Given the description of an element on the screen output the (x, y) to click on. 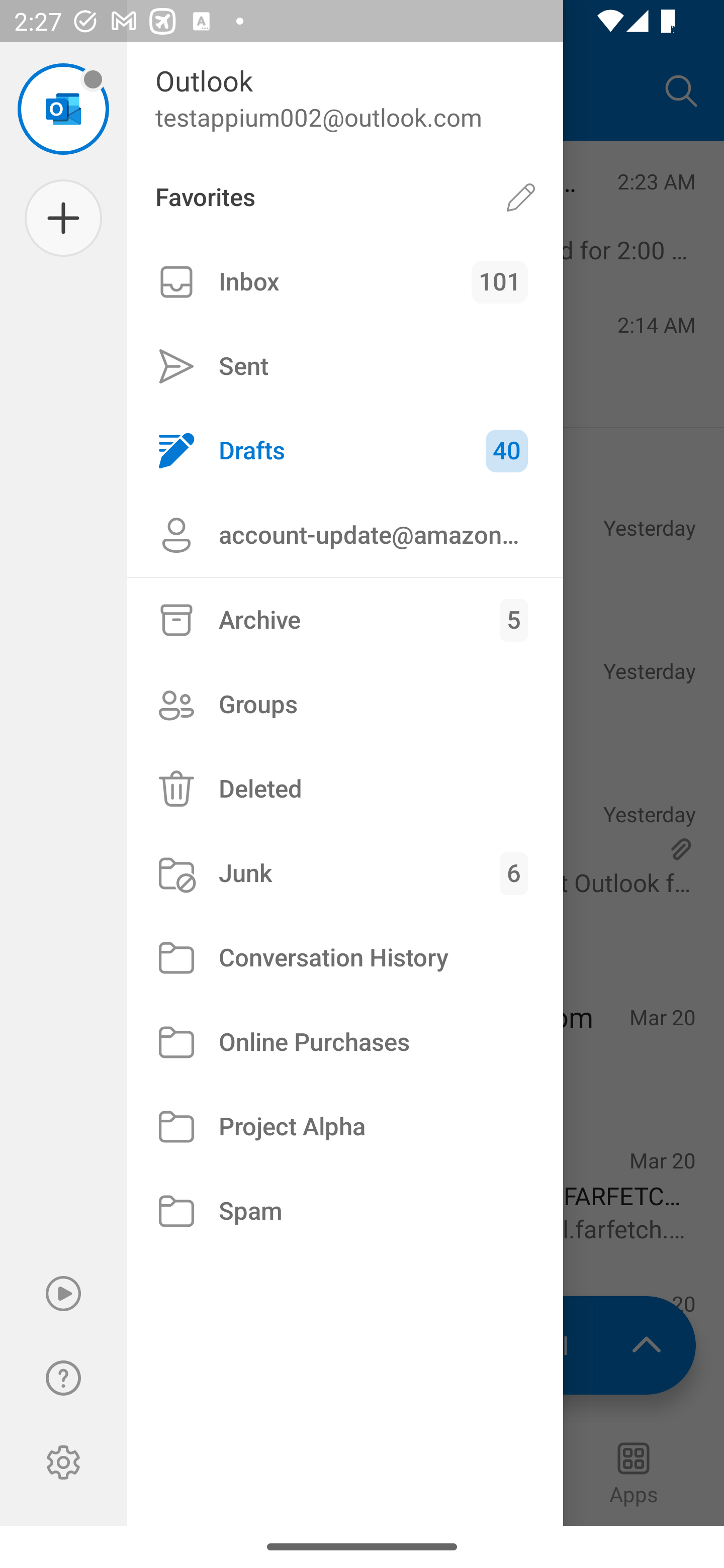
Edit favorites (520, 197)
Add account (63, 217)
Inbox Inbox, 101 unread emails (345, 281)
Sent (345, 366)
Drafts Drafts, 40 unread emails,Selected (345, 450)
account-update@amazon.com (345, 534)
Archive Archive, 2 of 9, level 1, 5 unread emails (345, 619)
Groups Groups, 3 of 9, level 1 (345, 703)
Deleted Deleted, 4 of 9, level 1 (345, 788)
Junk Junk, 5 of 9, level 1, 6 unread emails (345, 873)
Online Purchases Online Purchases, 7 of 9, level 1 (345, 1042)
Project Alpha Project Alpha, 8 of 9, level 1 (345, 1127)
Spam Spam, 9 of 9, level 1 (345, 1210)
Play My Emails (62, 1293)
Help (62, 1377)
Settings (62, 1462)
